Given the description of an element on the screen output the (x, y) to click on. 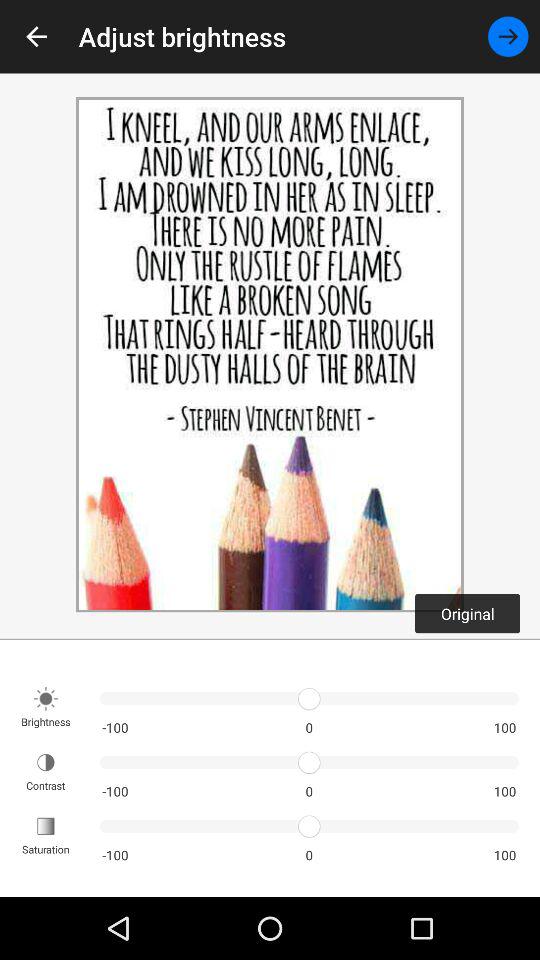
launch the item at the top right corner (508, 36)
